Given the description of an element on the screen output the (x, y) to click on. 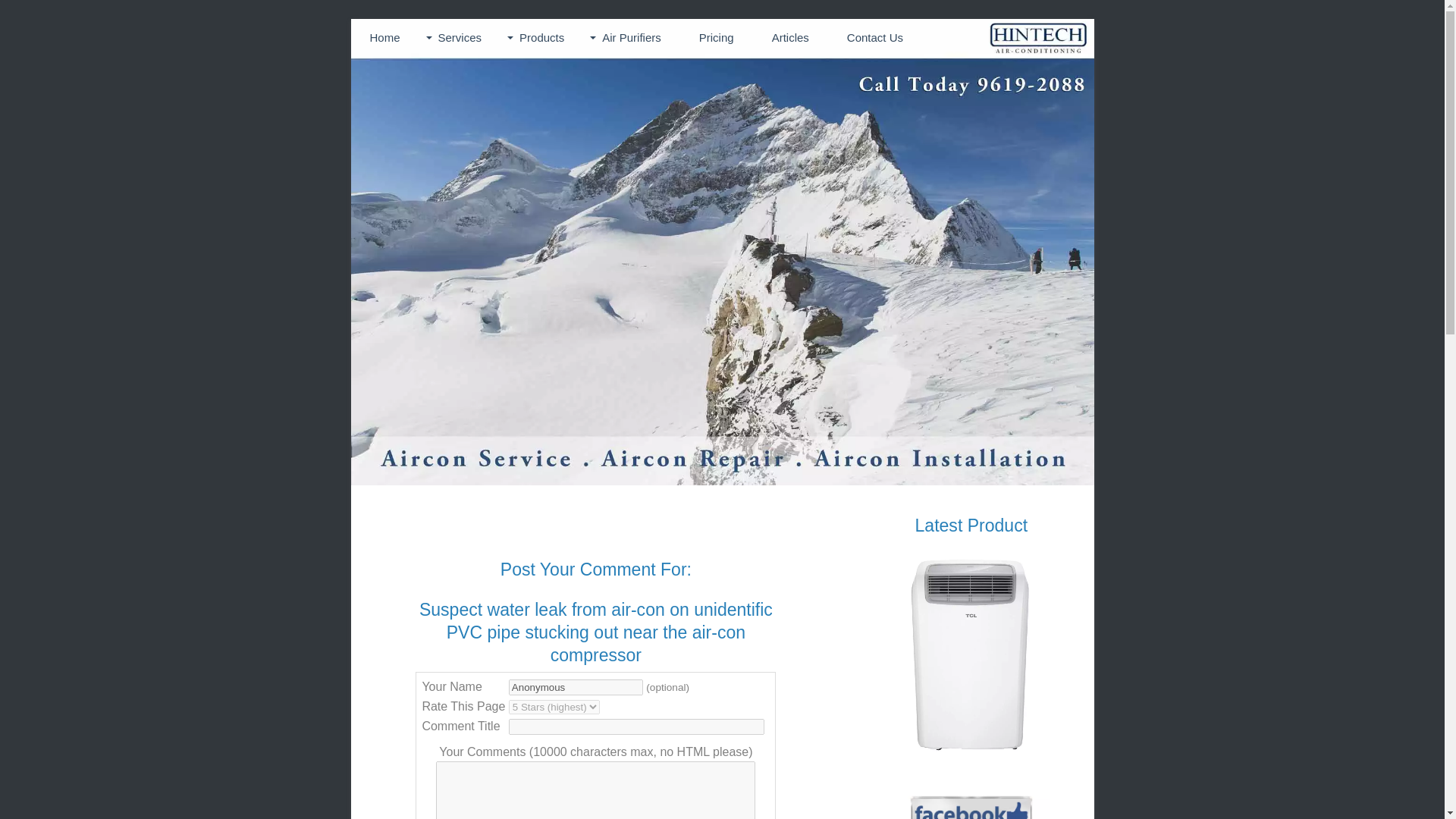
Articles (790, 37)
Anonymous (575, 687)
Contact Us (874, 37)
Home (384, 37)
Pricing (715, 37)
